Given the description of an element on the screen output the (x, y) to click on. 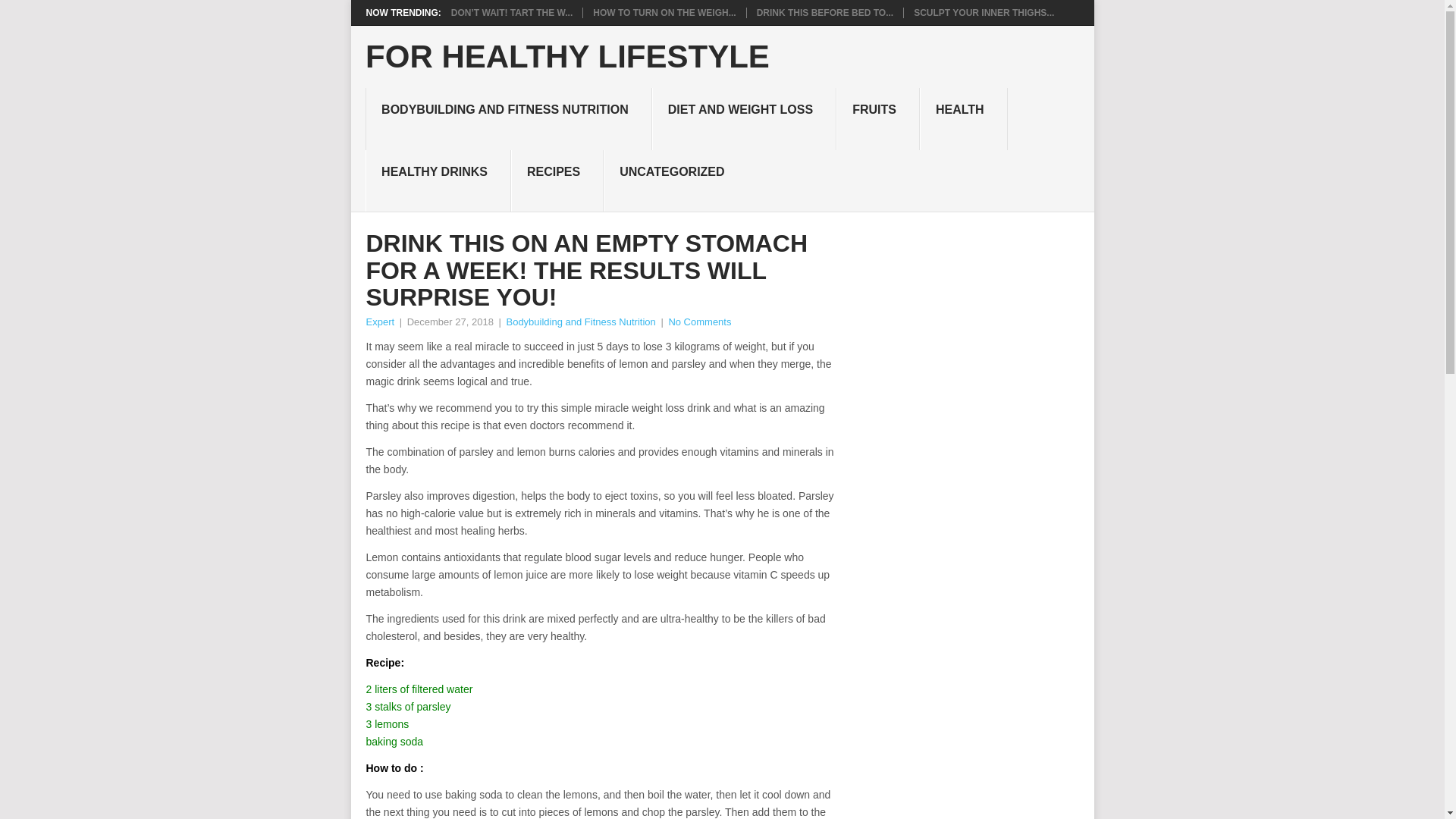
Expert (379, 321)
BODYBUILDING AND FITNESS NUTRITION (508, 118)
HOW TO TURN ON THE WEIGH... (663, 12)
No Comments (699, 321)
Posts by Expert (379, 321)
Sculpt Your Inner Thighs Fast: 6 Must-Do Exercises (984, 12)
HEALTH (963, 118)
FRUITS (877, 118)
Bodybuilding and Fitness Nutrition (580, 321)
How to Turn On the Weight Loss Hormones (663, 12)
